Given the description of an element on the screen output the (x, y) to click on. 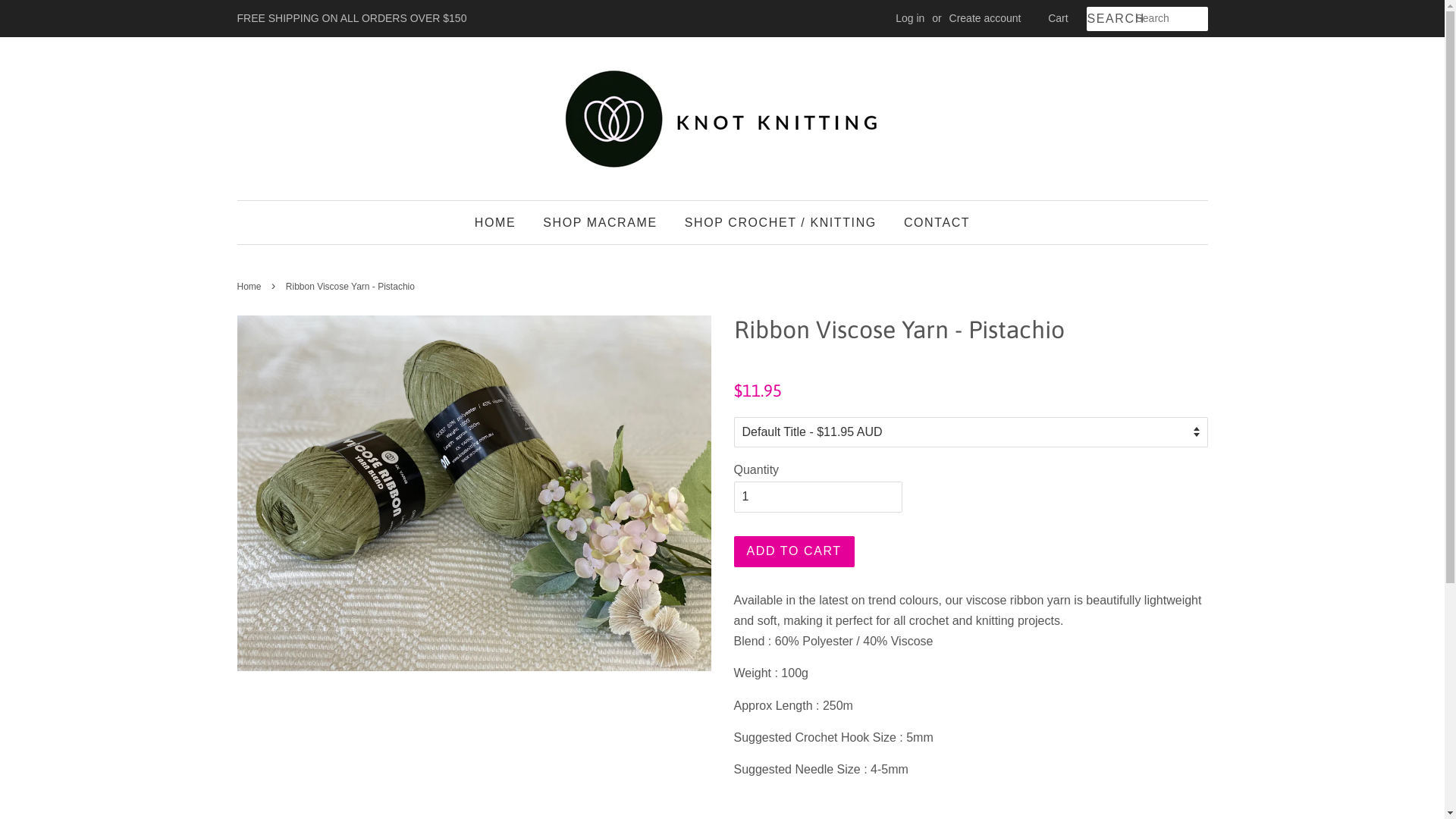
Home Element type: text (250, 286)
SHOP CROCHET / KNITTING Element type: text (780, 222)
SEARCH Element type: text (1109, 18)
Cart Element type: text (1057, 18)
ADD TO CART Element type: text (794, 551)
SHOP MACRAME Element type: text (599, 222)
CONTACT Element type: text (930, 222)
Log in Element type: text (909, 18)
Create account Element type: text (985, 18)
HOME Element type: text (500, 222)
